Given the description of an element on the screen output the (x, y) to click on. 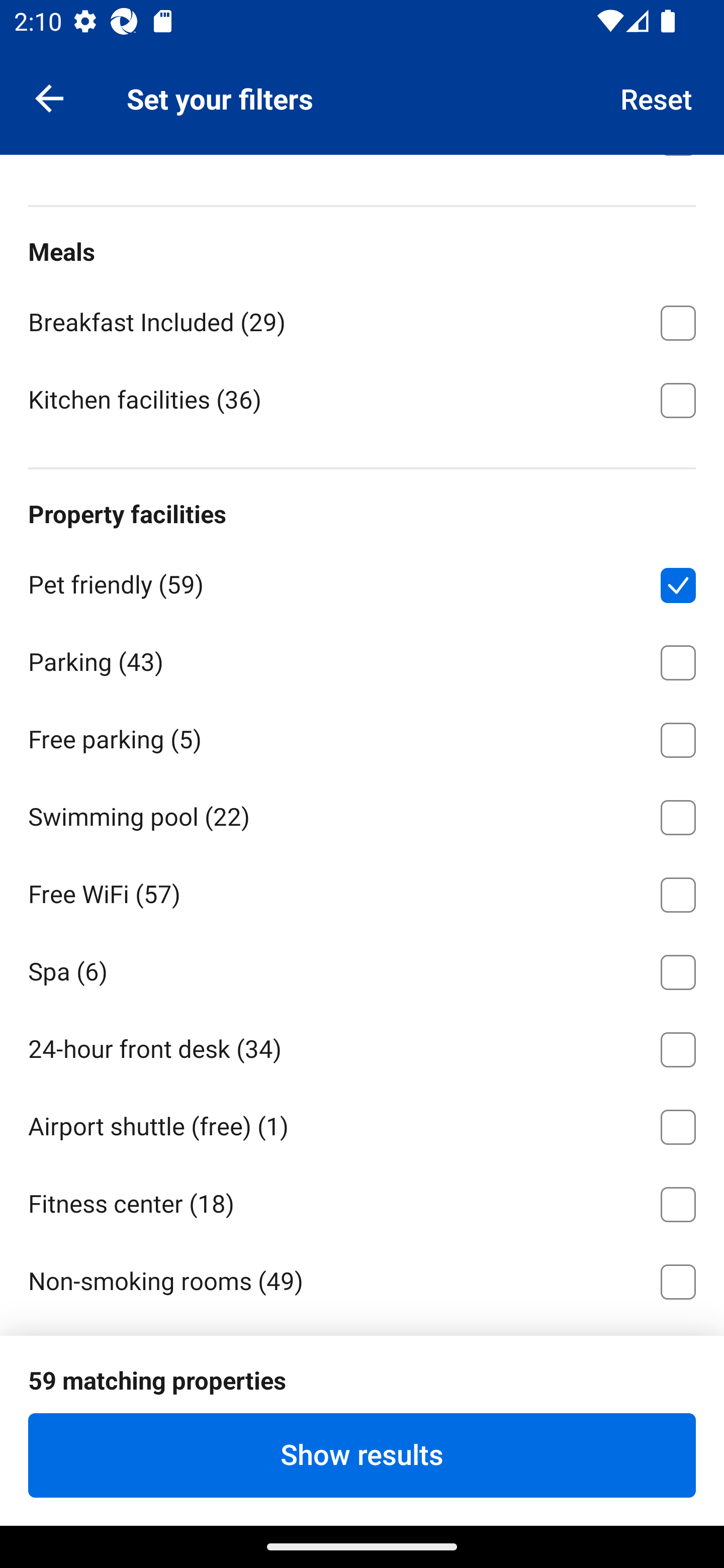
Navigate up (49, 97)
Reset (656, 97)
Breakfast Included ⁦(29) (361, 319)
Kitchen facilities ⁦(36) (361, 399)
Pet friendly ⁦(59) (361, 581)
Parking ⁦(43) (361, 658)
Free parking ⁦(5) (361, 736)
Swimming pool ⁦(22) (361, 814)
Free WiFi ⁦(57) (361, 890)
Spa ⁦(6) (361, 968)
24-hour front desk ⁦(34) (361, 1046)
Airport shuttle (free) ⁦(1) (361, 1123)
Fitness center ⁦(18) (361, 1200)
Non-smoking rooms ⁦(49) (361, 1278)
Show results (361, 1454)
